Given the description of an element on the screen output the (x, y) to click on. 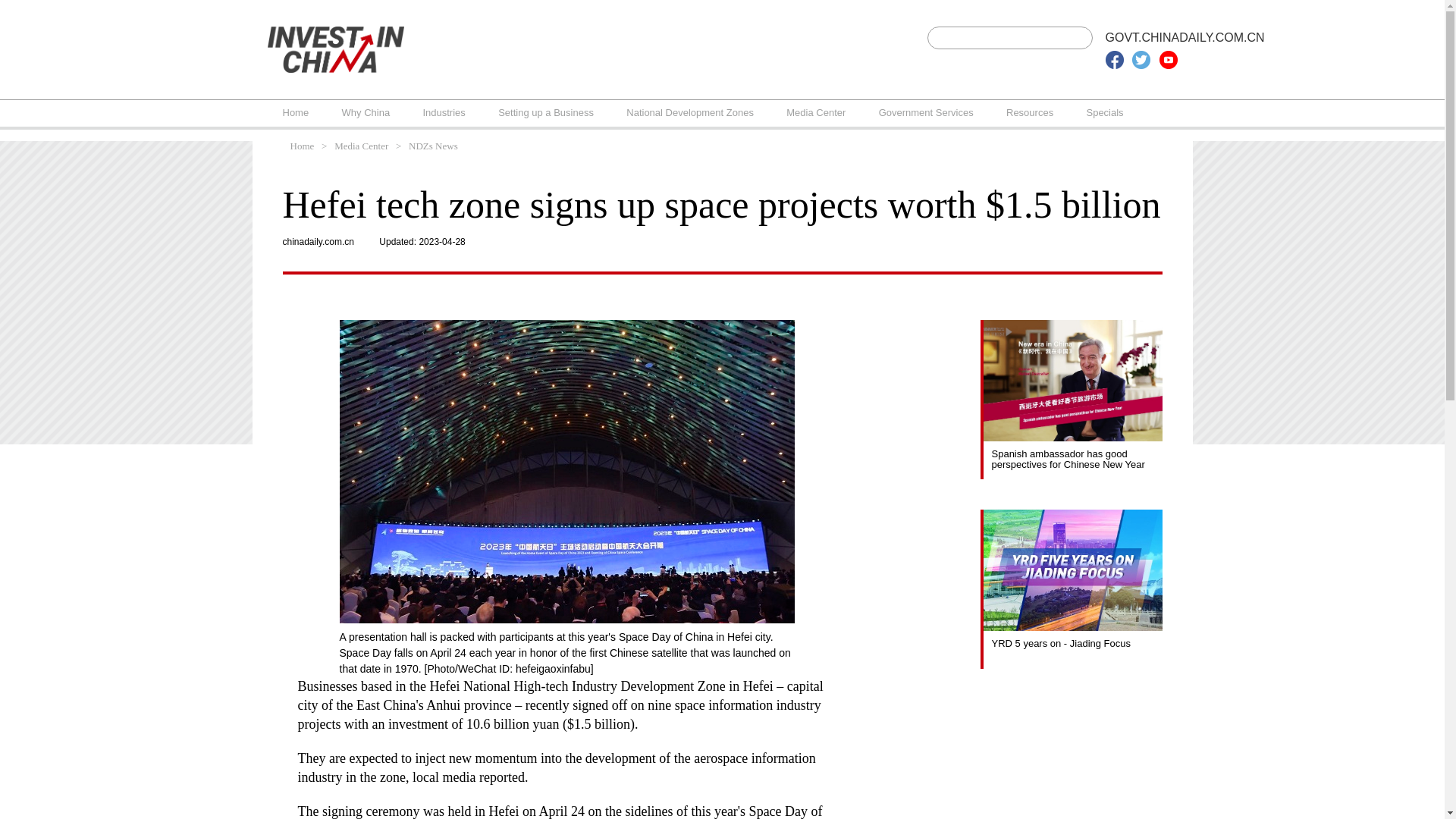
Industries (443, 112)
National Development Zones (690, 112)
Home (295, 112)
Media Center (815, 112)
youtube (1167, 59)
Industries (443, 112)
Setting up a Business (545, 112)
Why China (366, 112)
twitter (1141, 59)
GOVT.CHINADAILY.COM.CN (1185, 37)
